Given the description of an element on the screen output the (x, y) to click on. 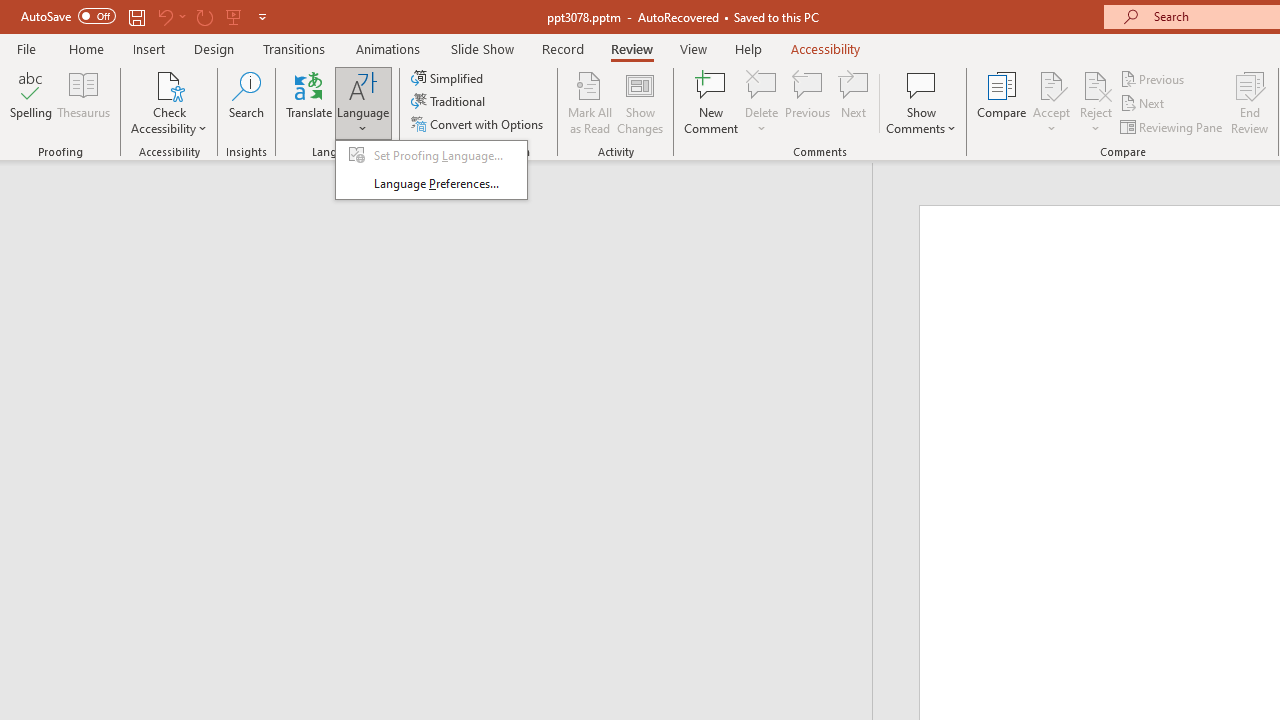
Reviewing Pane (1172, 126)
Previous (1153, 78)
Accept Change (1051, 84)
Thesaurus... (83, 102)
Reject (1096, 102)
